Given the description of an element on the screen output the (x, y) to click on. 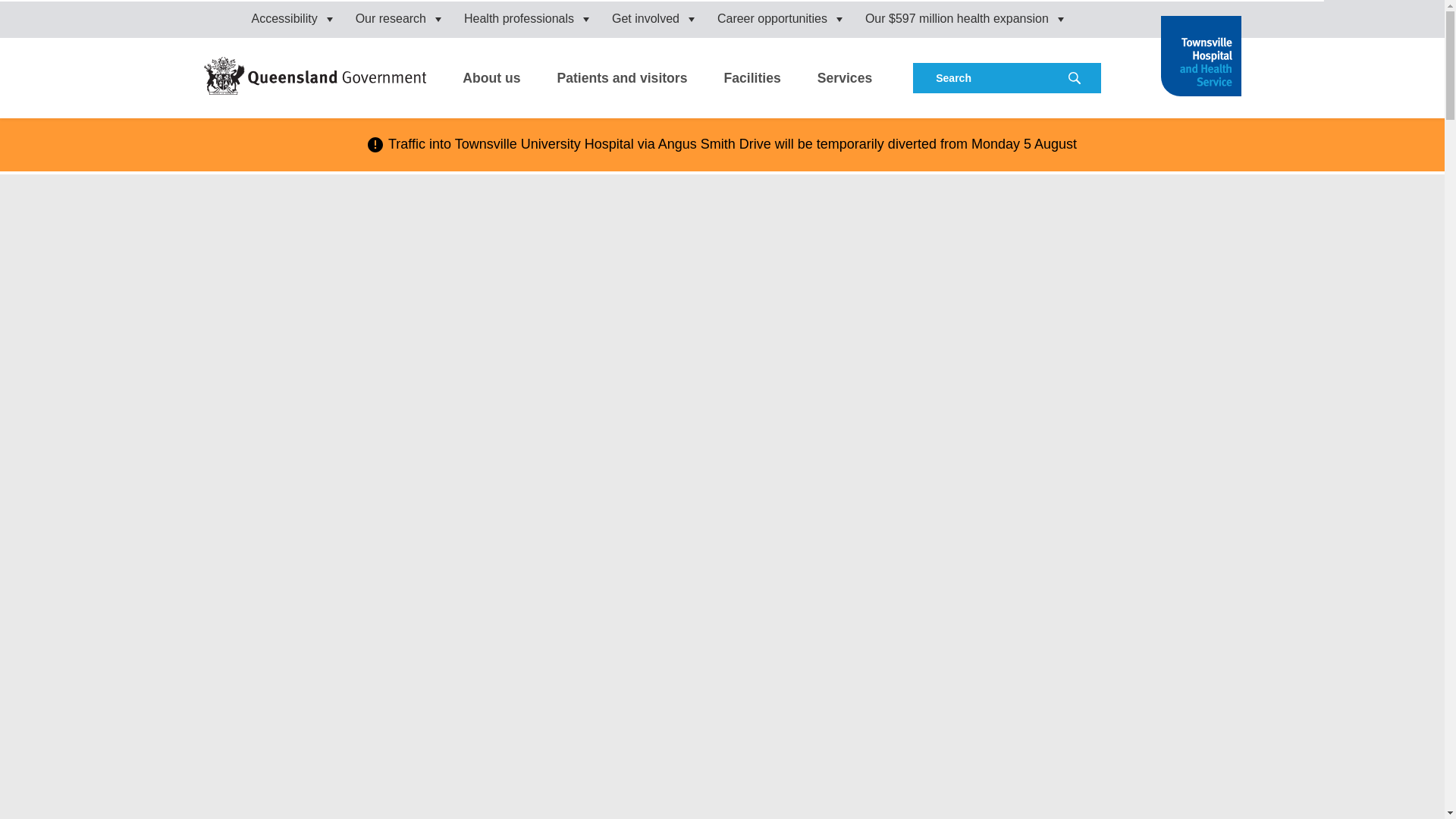
Accessibility (292, 18)
Career opportunities (780, 18)
Accessibility (292, 18)
Get involved (652, 18)
Our research (398, 18)
Health professionals (526, 18)
Queensland Government (314, 75)
Health professionals (526, 18)
Our research (398, 18)
